Given the description of an element on the screen output the (x, y) to click on. 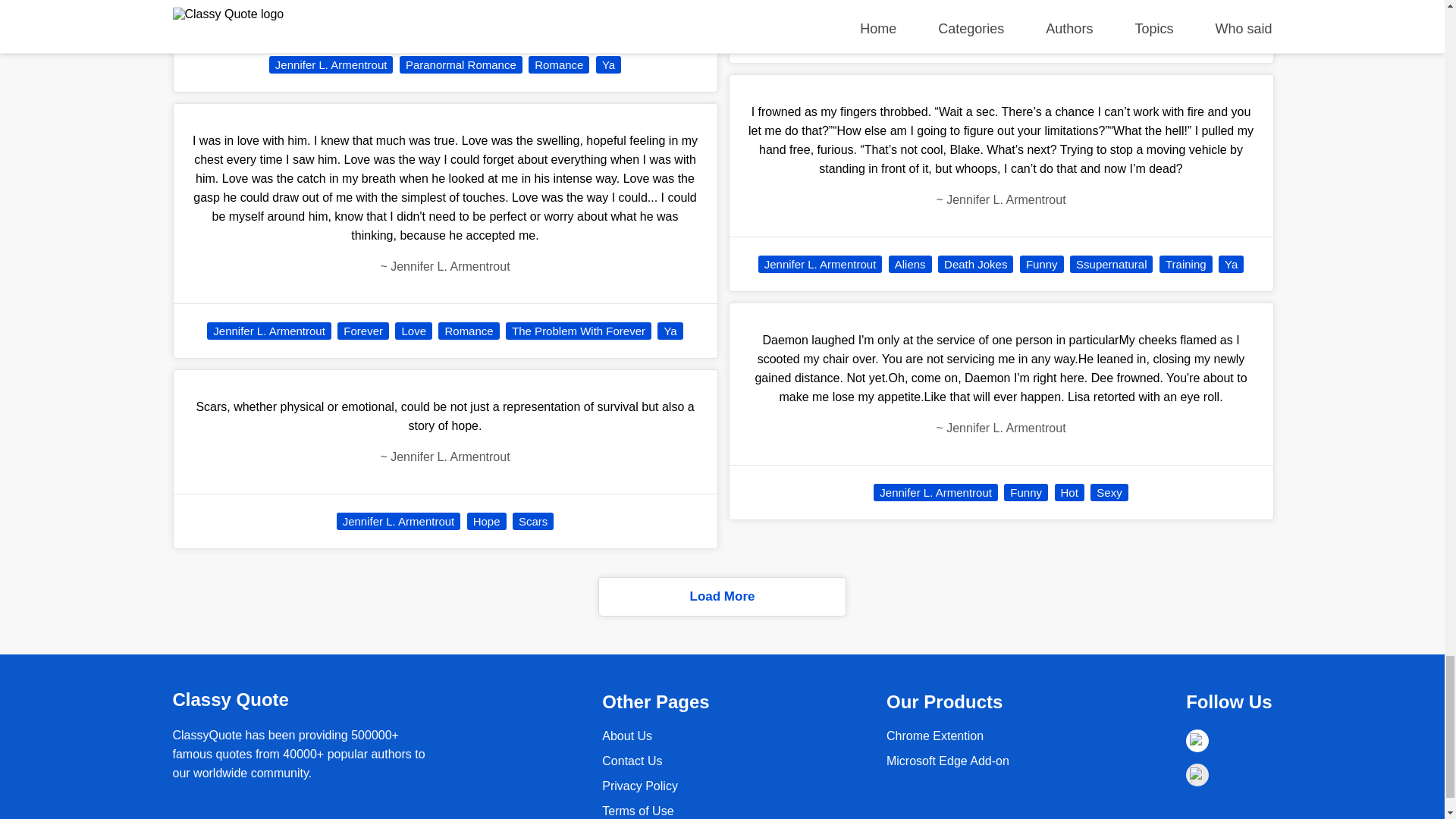
Chrome Extention (935, 735)
Chrome Extention (947, 760)
Instagram coming soon (1197, 774)
Facebook (1197, 740)
